Given the description of an element on the screen output the (x, y) to click on. 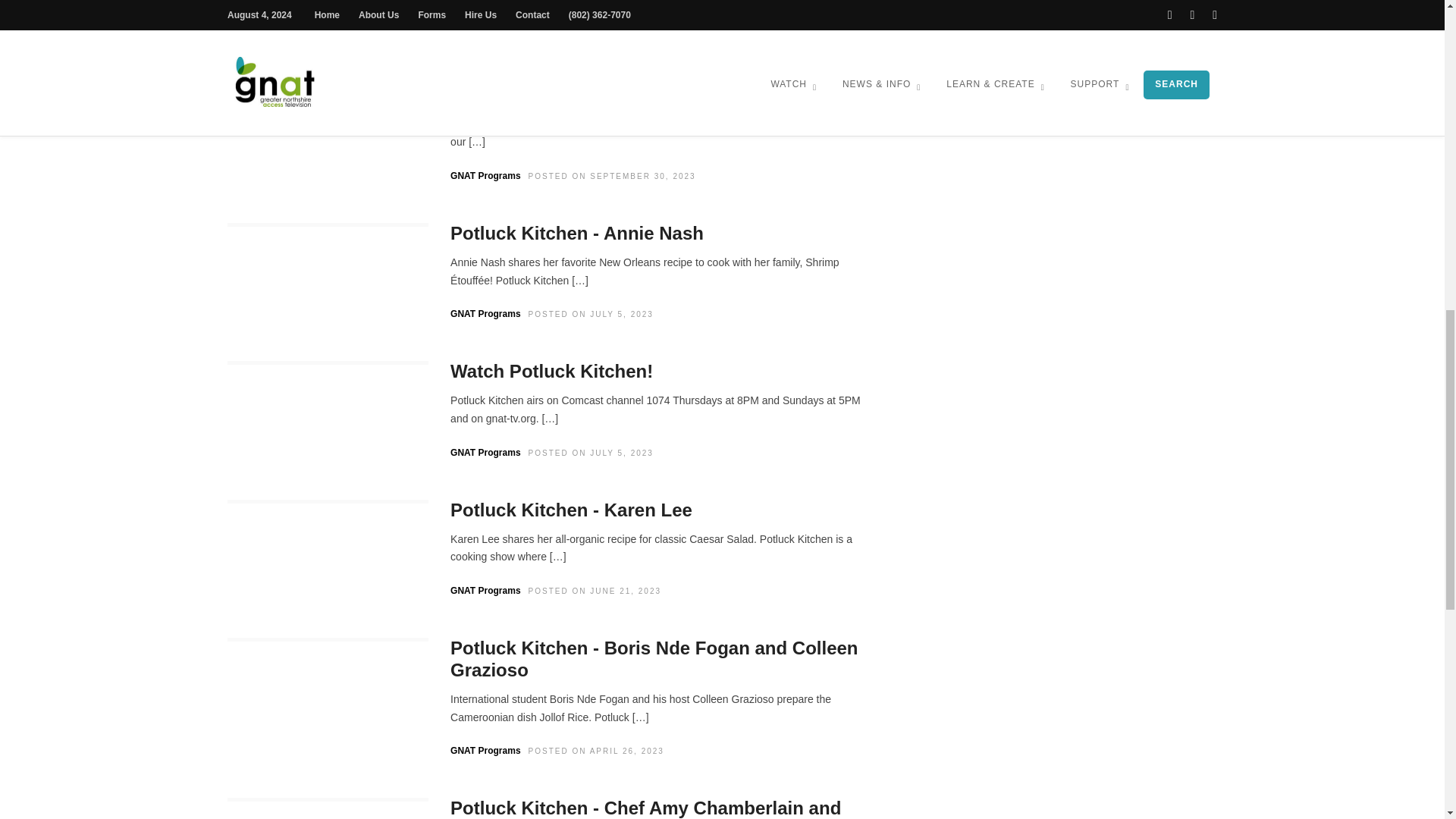
Potluck Kitchen - Karen Lee (571, 509)
Watch Potluck Kitchen! (550, 371)
Sign Up To Host Potluck Kitchen Today! (622, 95)
Potluck Kitchen - Boris Nde Fogan and Colleen Grazioso (653, 659)
Potluck Kitchen - Chef Amy Chamberlain and Linda Drunsic (645, 808)
Potluck Kitchen - Annie Nash (576, 232)
